Given the description of an element on the screen output the (x, y) to click on. 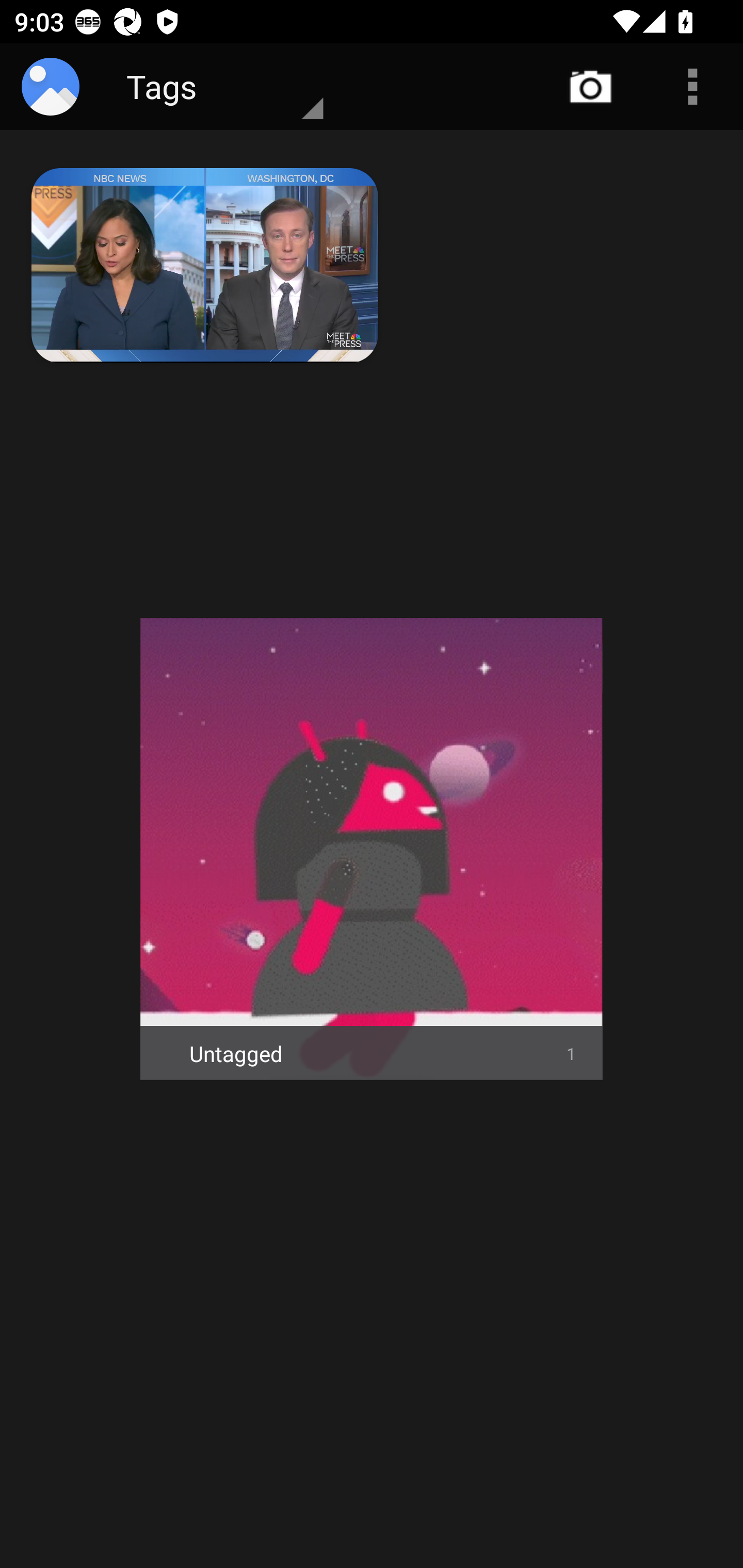
Tags (208, 86)
Switch to Camera (590, 86)
More options (692, 86)
